Given the description of an element on the screen output the (x, y) to click on. 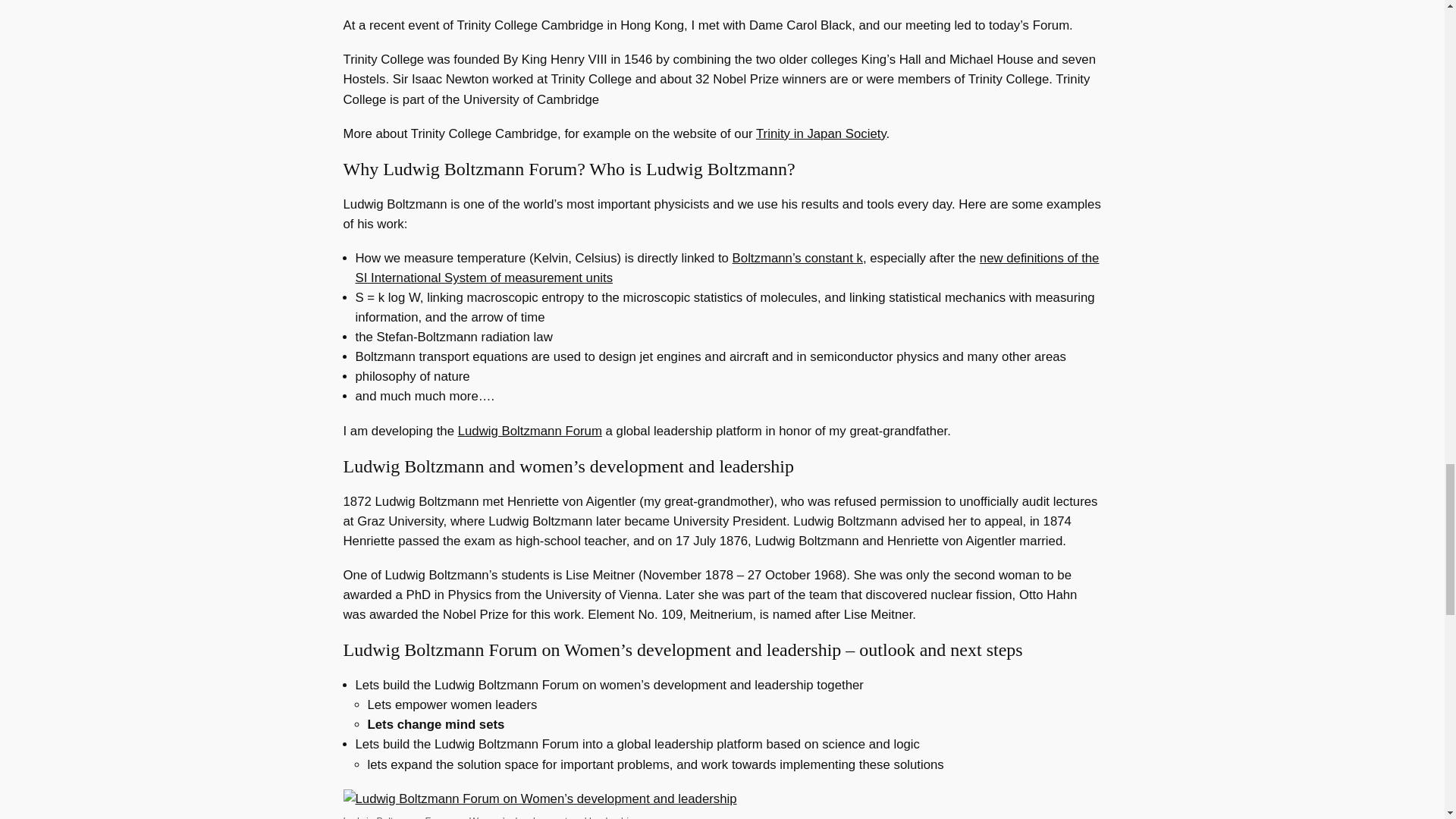
Ludwig Boltzmann Forum (530, 431)
Trinity in Japan Society (820, 133)
